Given the description of an element on the screen output the (x, y) to click on. 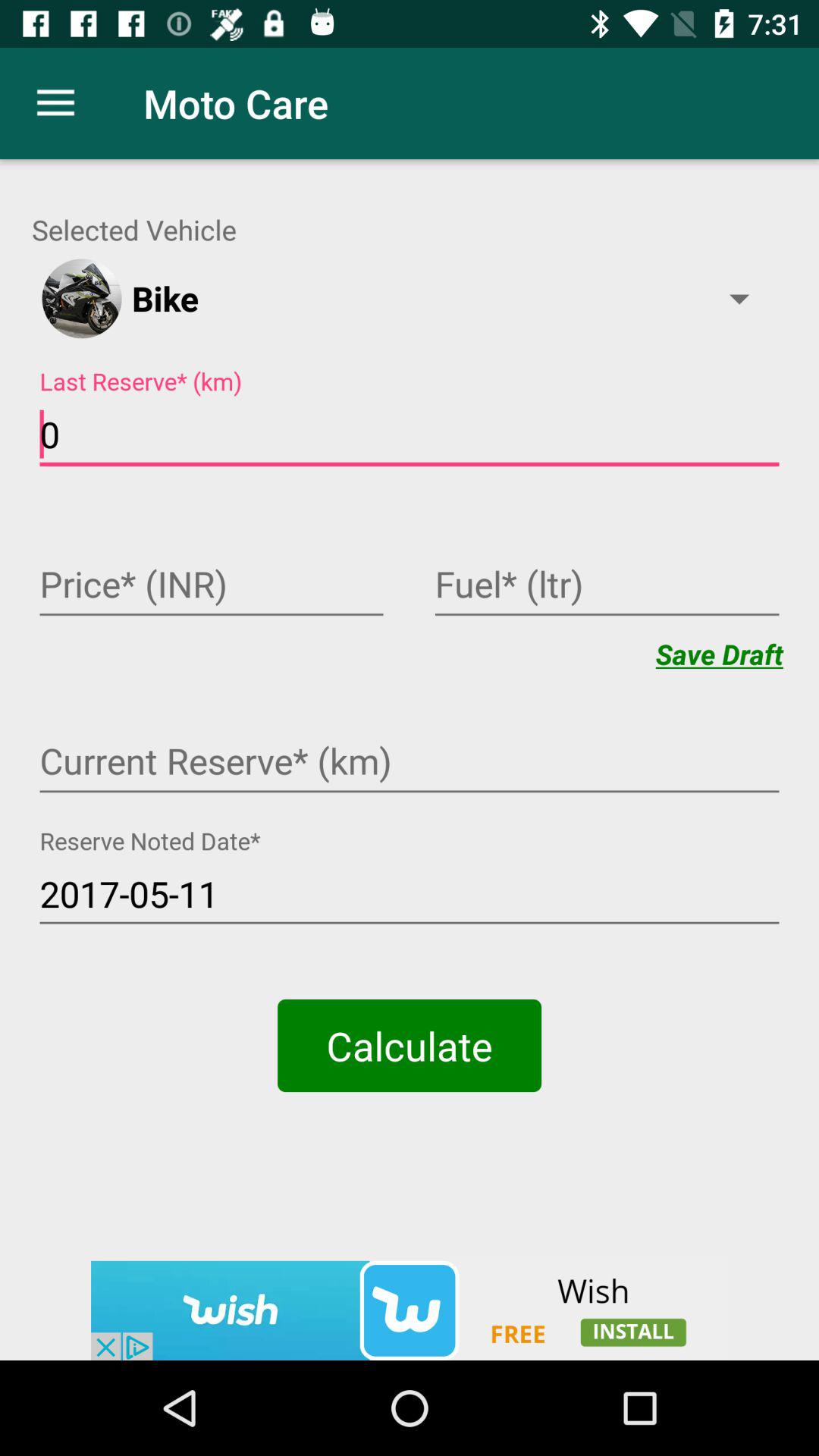
insert price (211, 586)
